Given the description of an element on the screen output the (x, y) to click on. 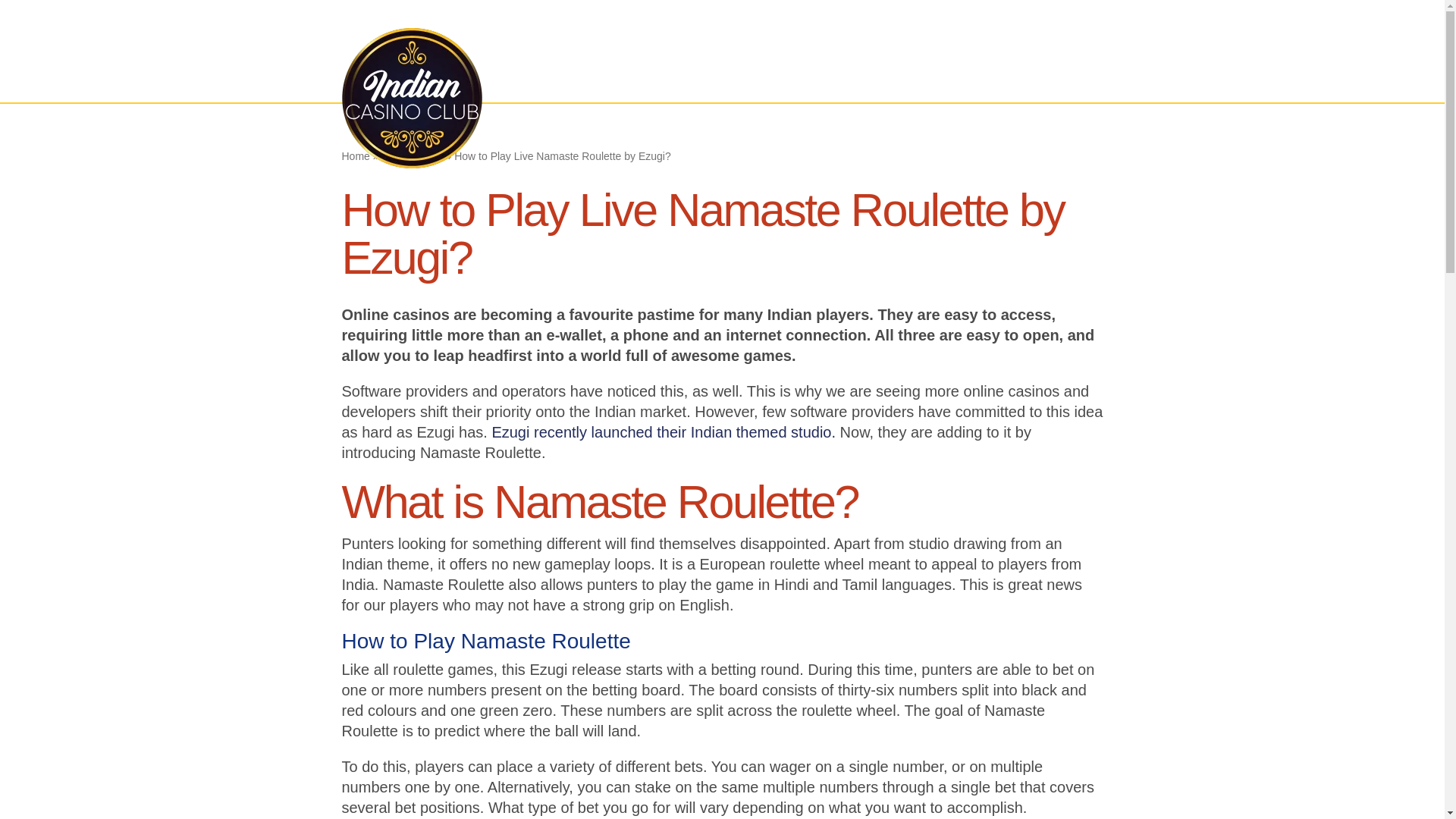
Our team (978, 23)
Home (354, 155)
Casino news (411, 155)
Casino news (1065, 23)
Ezugi recently launched their Indian themed studio. (663, 432)
